Given the description of an element on the screen output the (x, y) to click on. 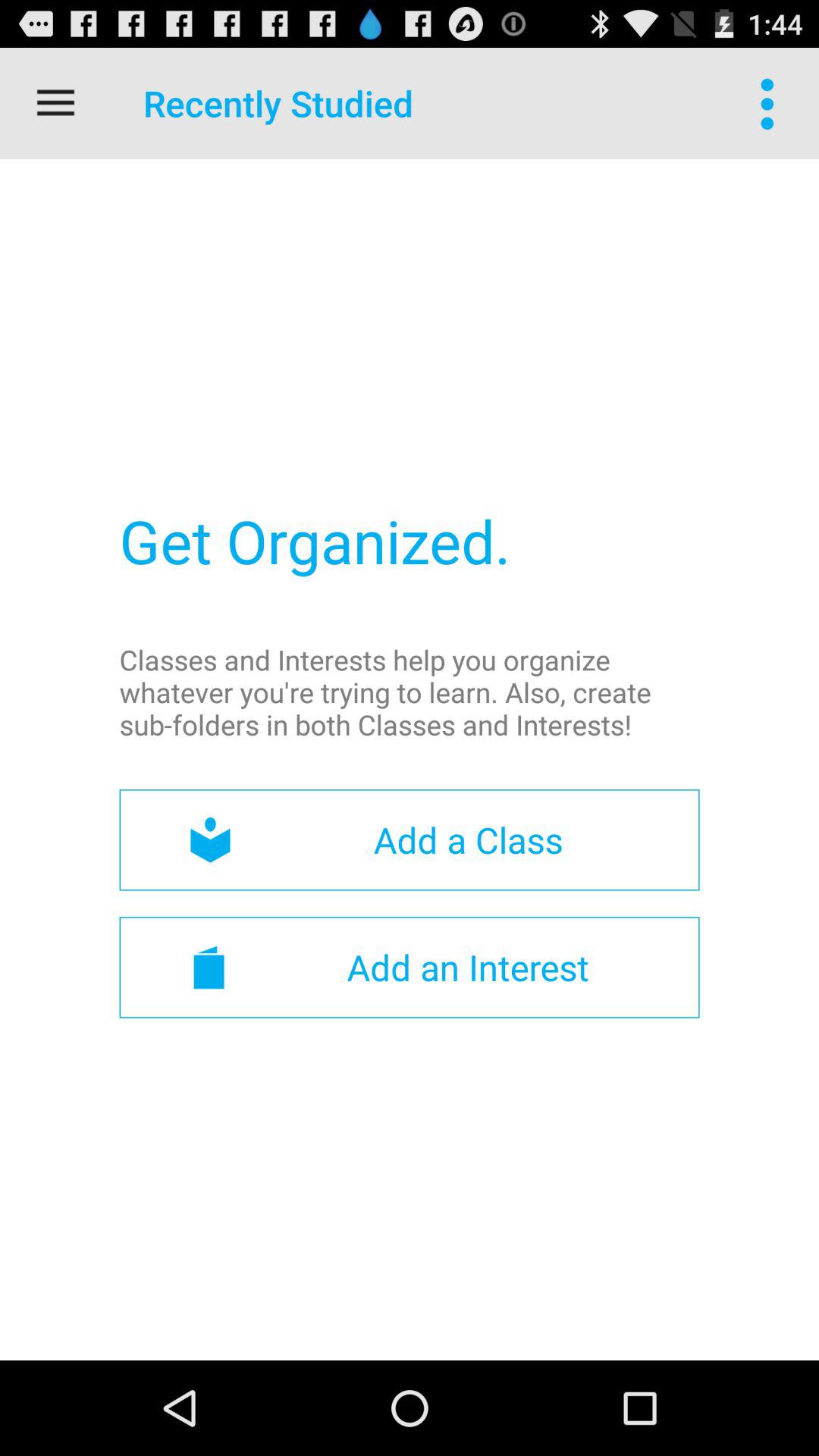
choose the add an interest icon (409, 967)
